Given the description of an element on the screen output the (x, y) to click on. 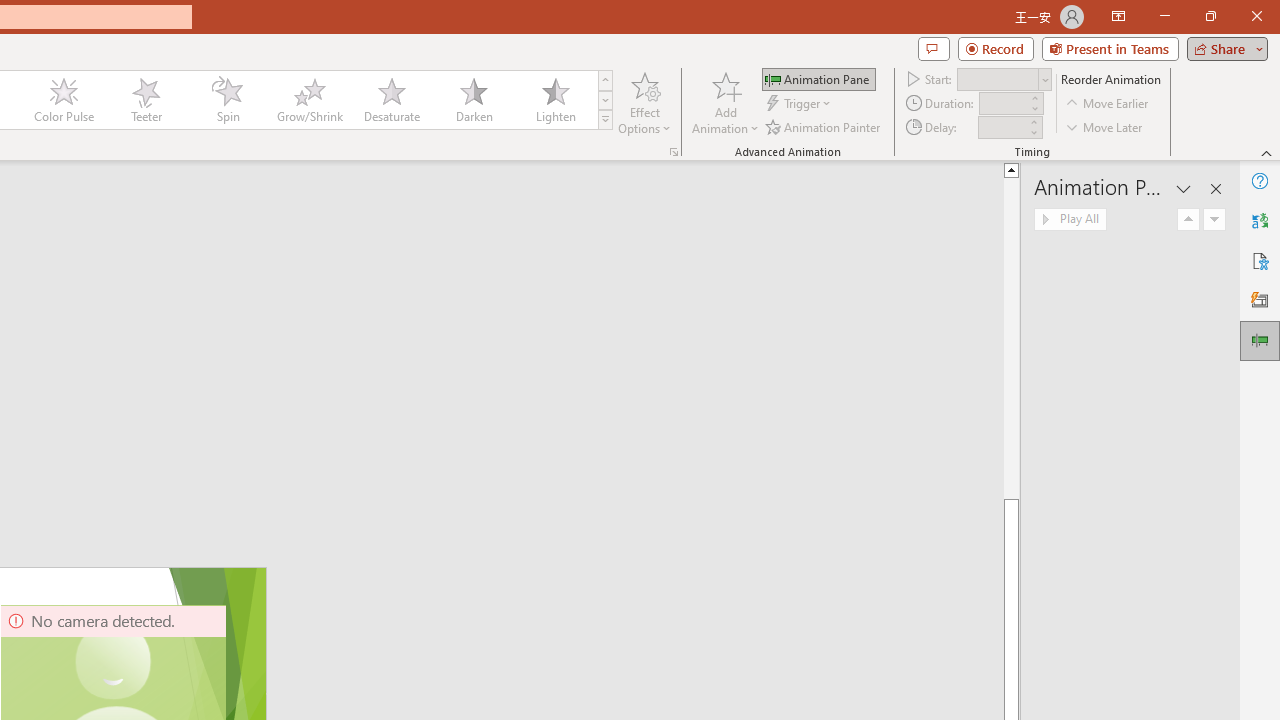
More Options... (673, 151)
Effect Options (644, 102)
Move Earlier (1107, 103)
Desaturate (391, 100)
Color Pulse (63, 100)
Grow/Shrink (309, 100)
